Given the description of an element on the screen output the (x, y) to click on. 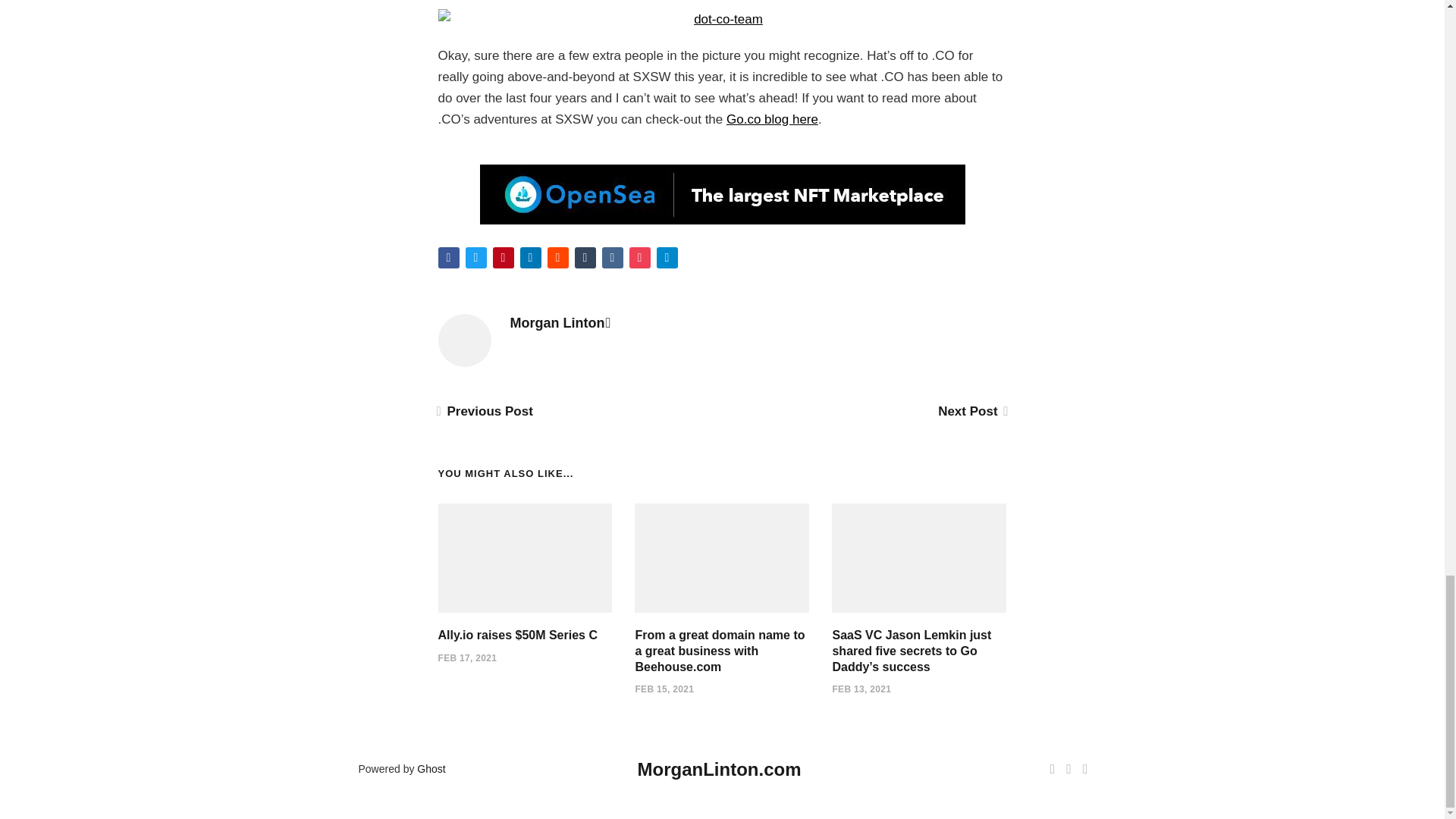
Previous Post (485, 411)
Next Post (971, 411)
Go.co blog here (772, 119)
